Given the description of an element on the screen output the (x, y) to click on. 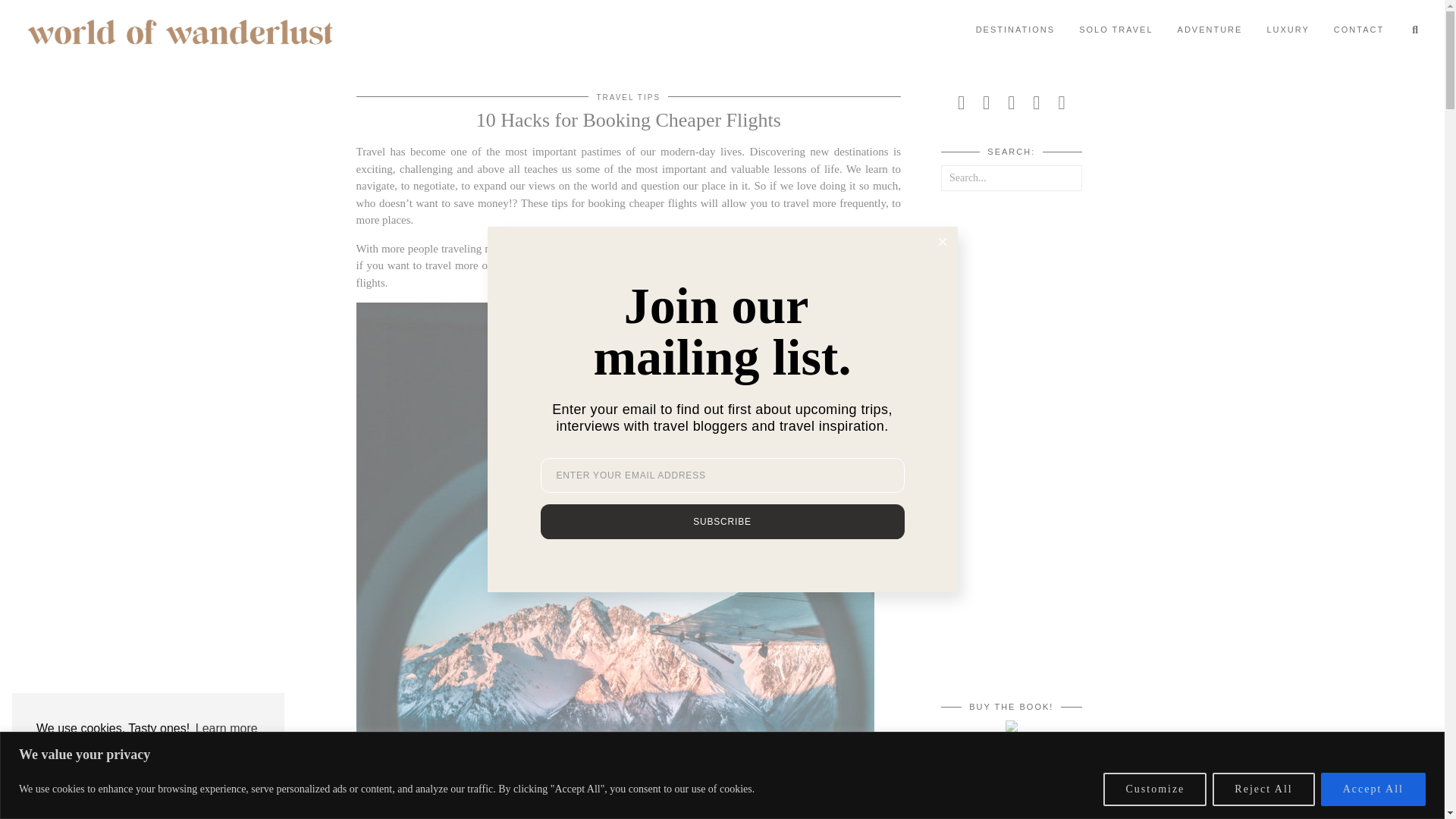
OK (148, 767)
Learn more (226, 728)
World of Wanderlust (180, 32)
